Given the description of an element on the screen output the (x, y) to click on. 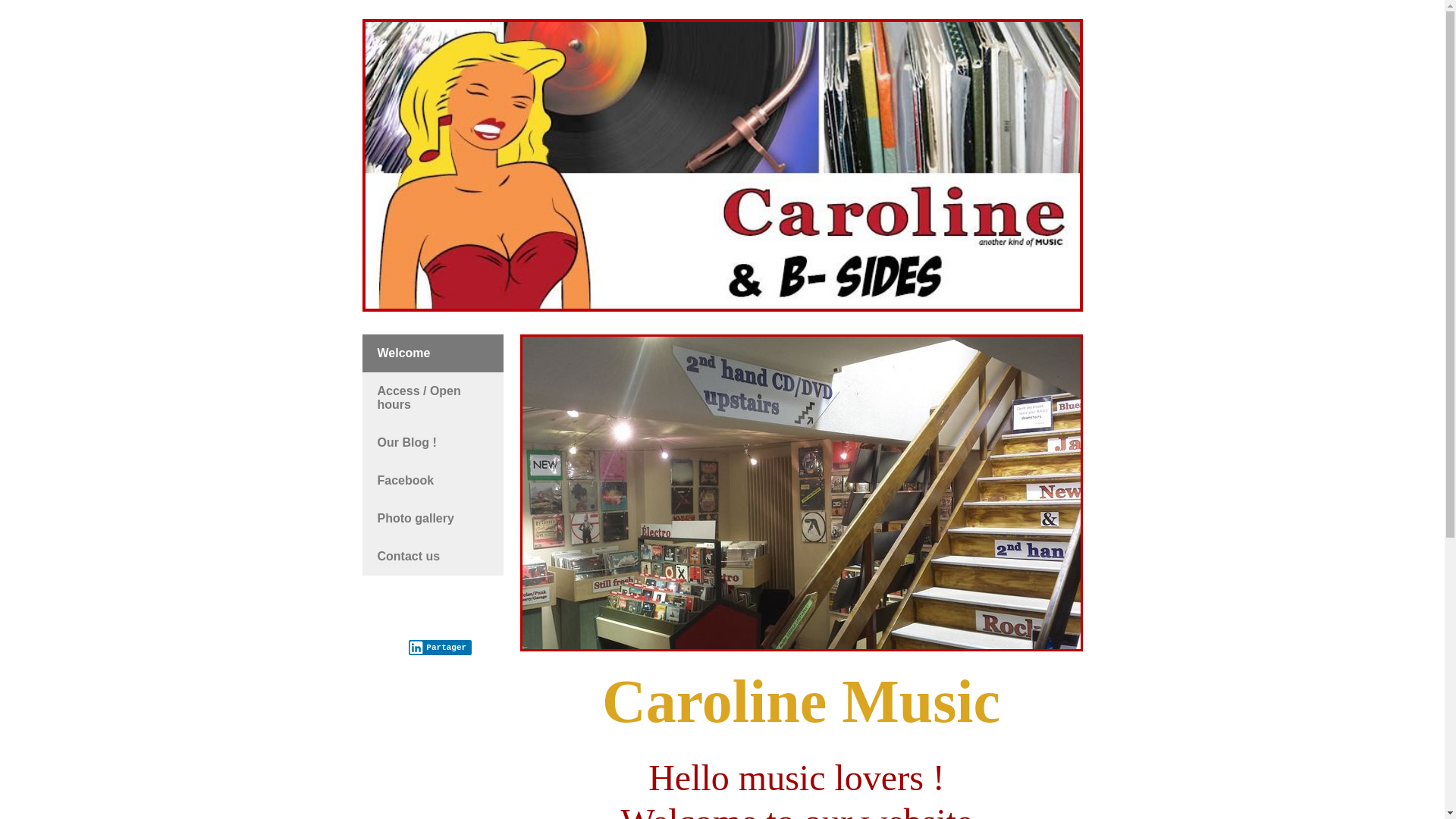
Partager Element type: text (439, 647)
Contact us Element type: text (432, 556)
Welcome Element type: text (432, 353)
Access / Open hours Element type: text (432, 397)
Photo gallery Element type: text (432, 518)
Facebook Element type: text (432, 480)
Our Blog ! Element type: text (432, 442)
